Given the description of an element on the screen output the (x, y) to click on. 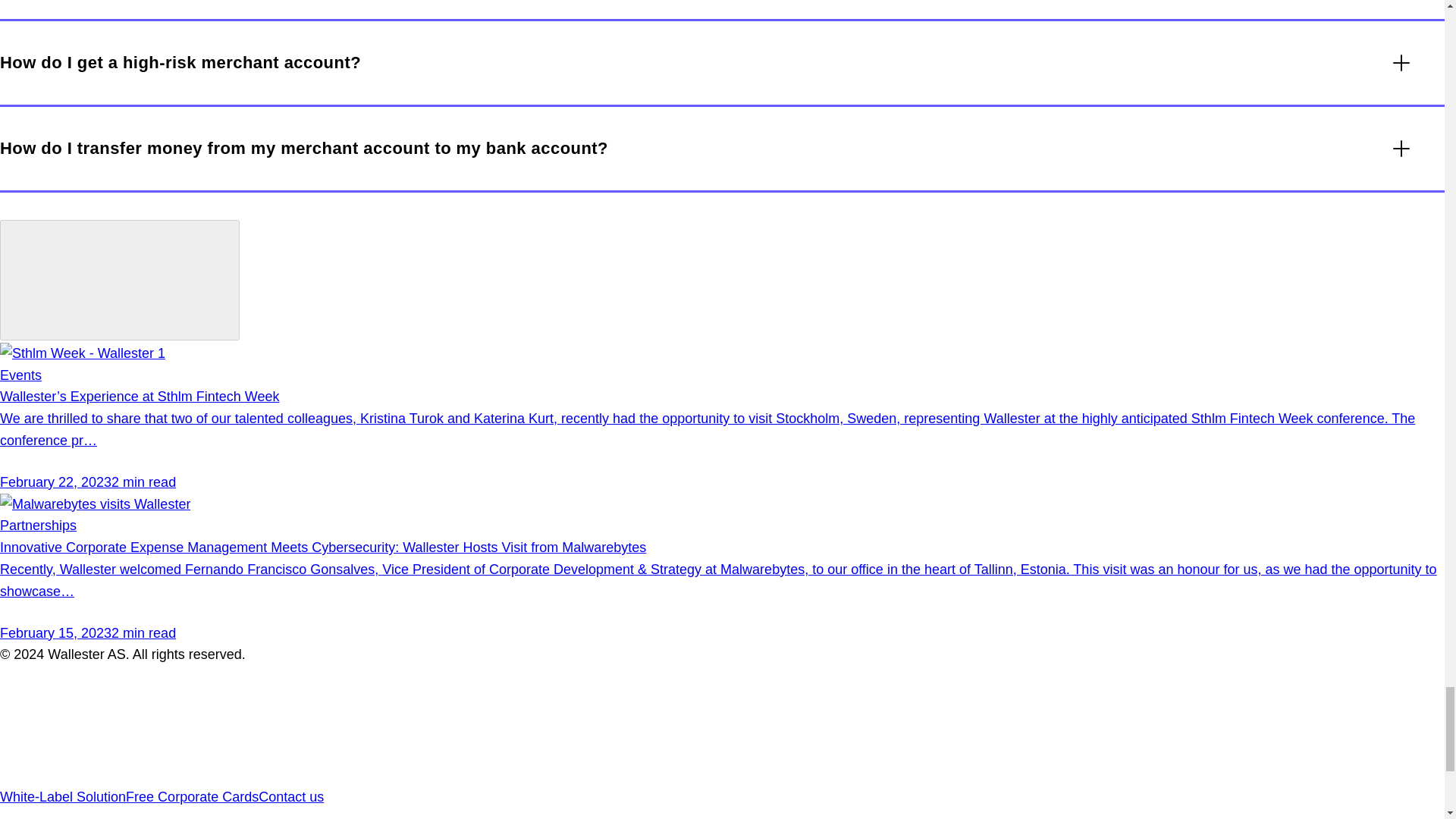
Free Corporate Cards (192, 796)
White-Label Solution (62, 796)
Contact us (291, 796)
